Given the description of an element on the screen output the (x, y) to click on. 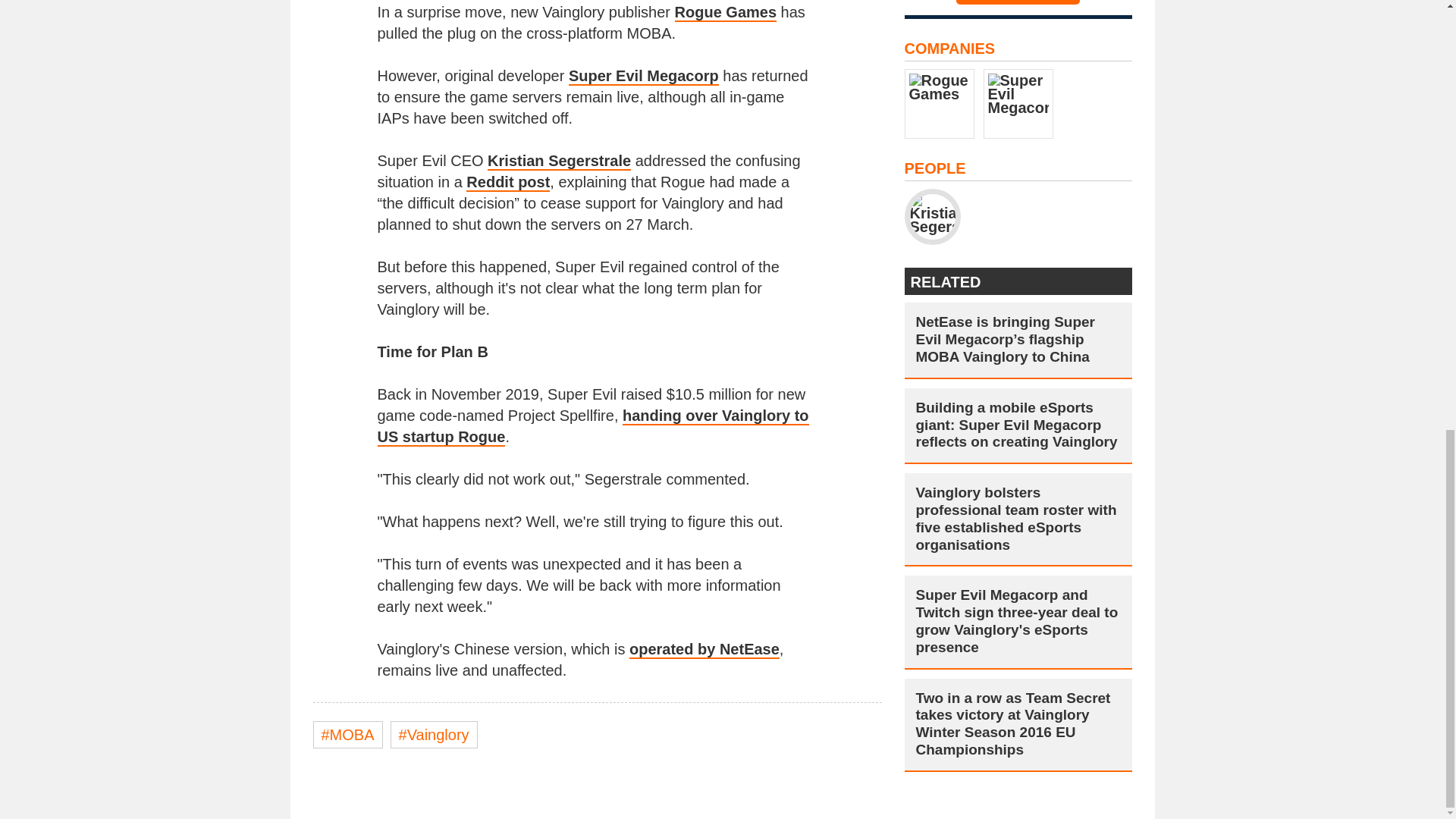
operated by NetEase (703, 649)
Super Evil Megacorp (644, 76)
Reddit post (507, 182)
handing over Vainglory to US startup Rogue (593, 426)
Kristian Segerstrale (558, 161)
Rogue Games (725, 13)
